Given the description of an element on the screen output the (x, y) to click on. 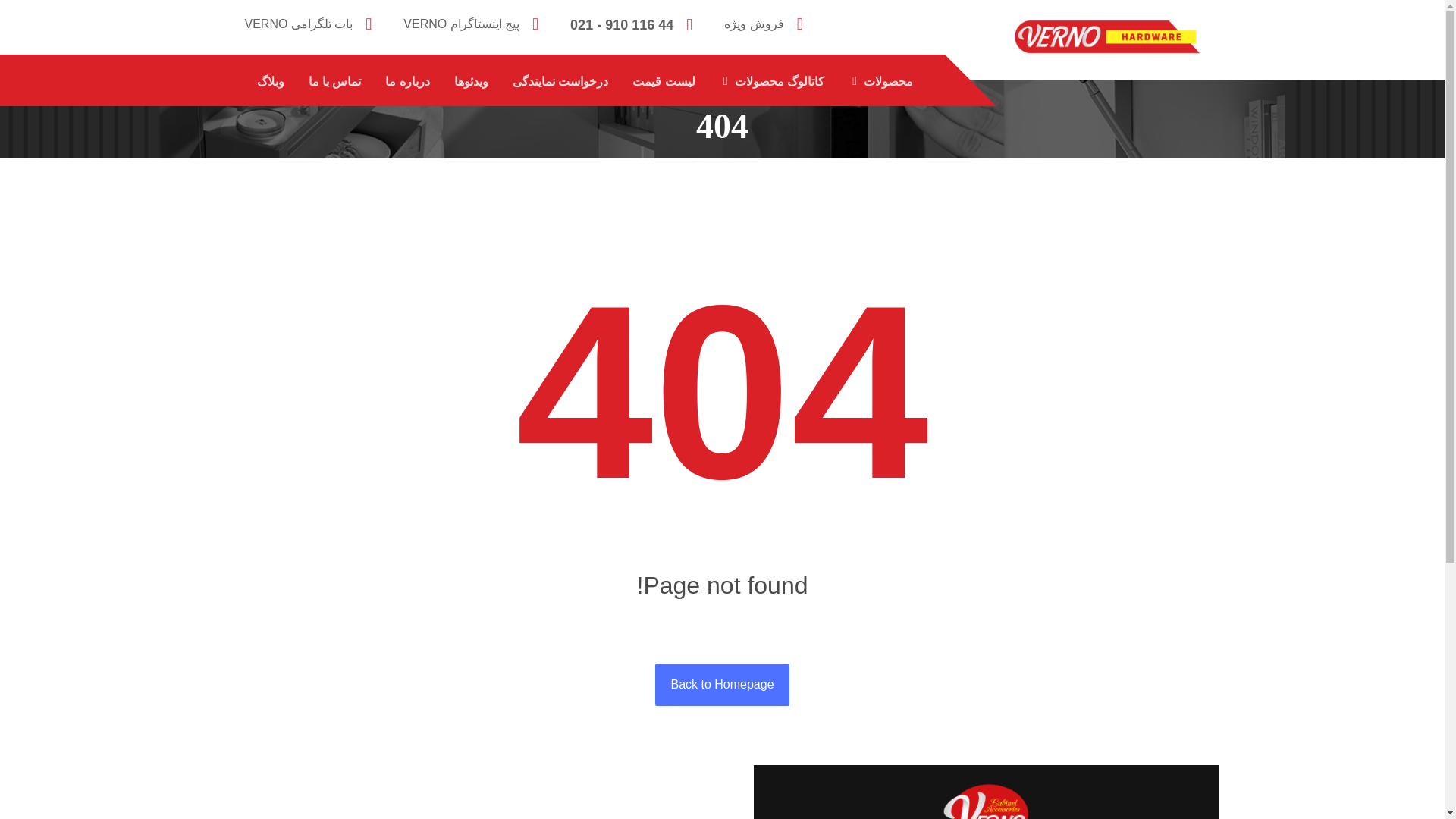
44 116 910 - 021 (635, 23)
Back to Homepage (722, 684)
